Given the description of an element on the screen output the (x, y) to click on. 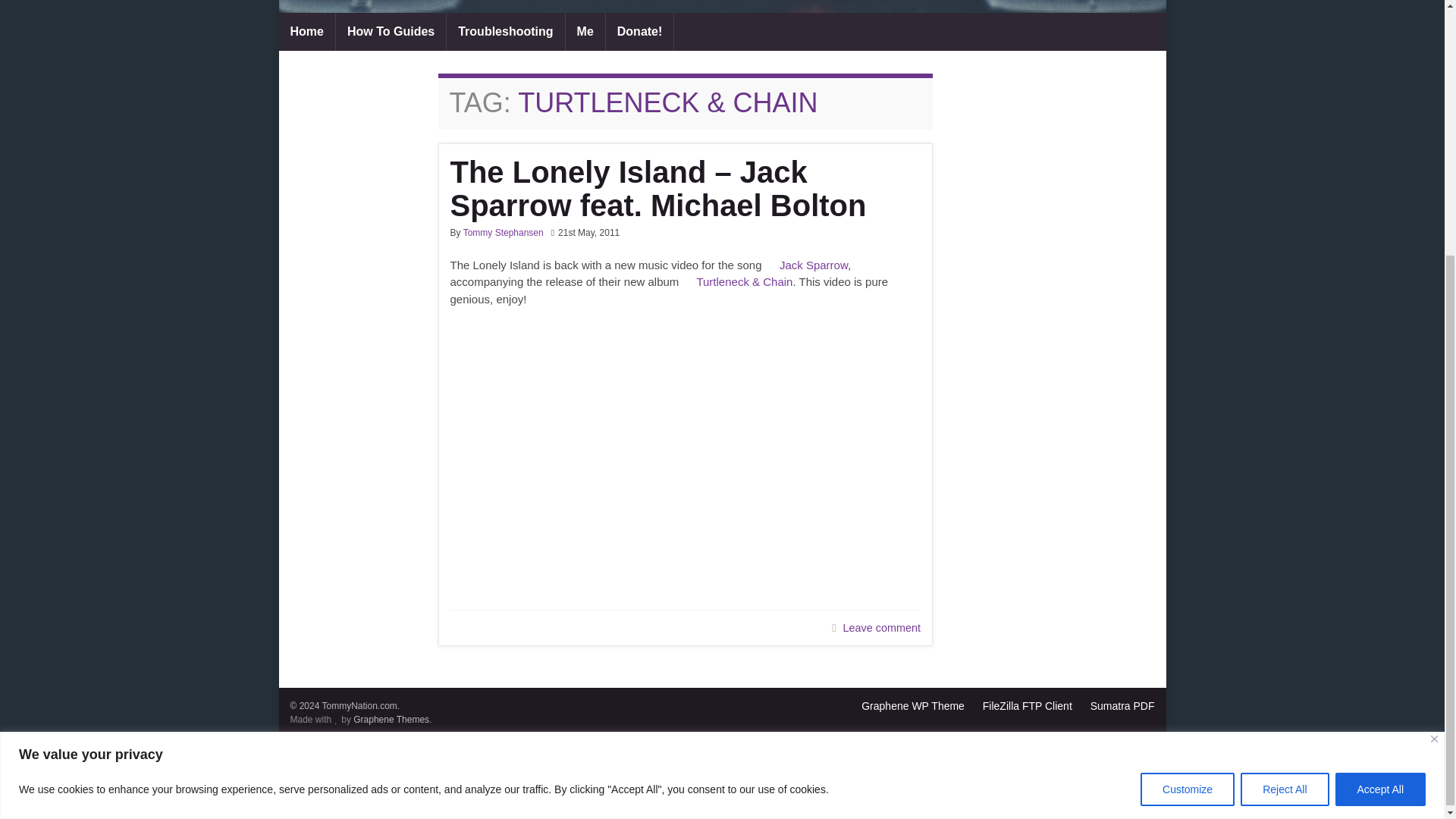
FileZilla FTP Client (1026, 705)
Me (585, 31)
Accept All (1380, 422)
Me (585, 31)
Customize (1187, 422)
Reject All (1283, 422)
Graphene WP Theme (912, 705)
Donate! (639, 31)
Leave comment (881, 627)
